Given the description of an element on the screen output the (x, y) to click on. 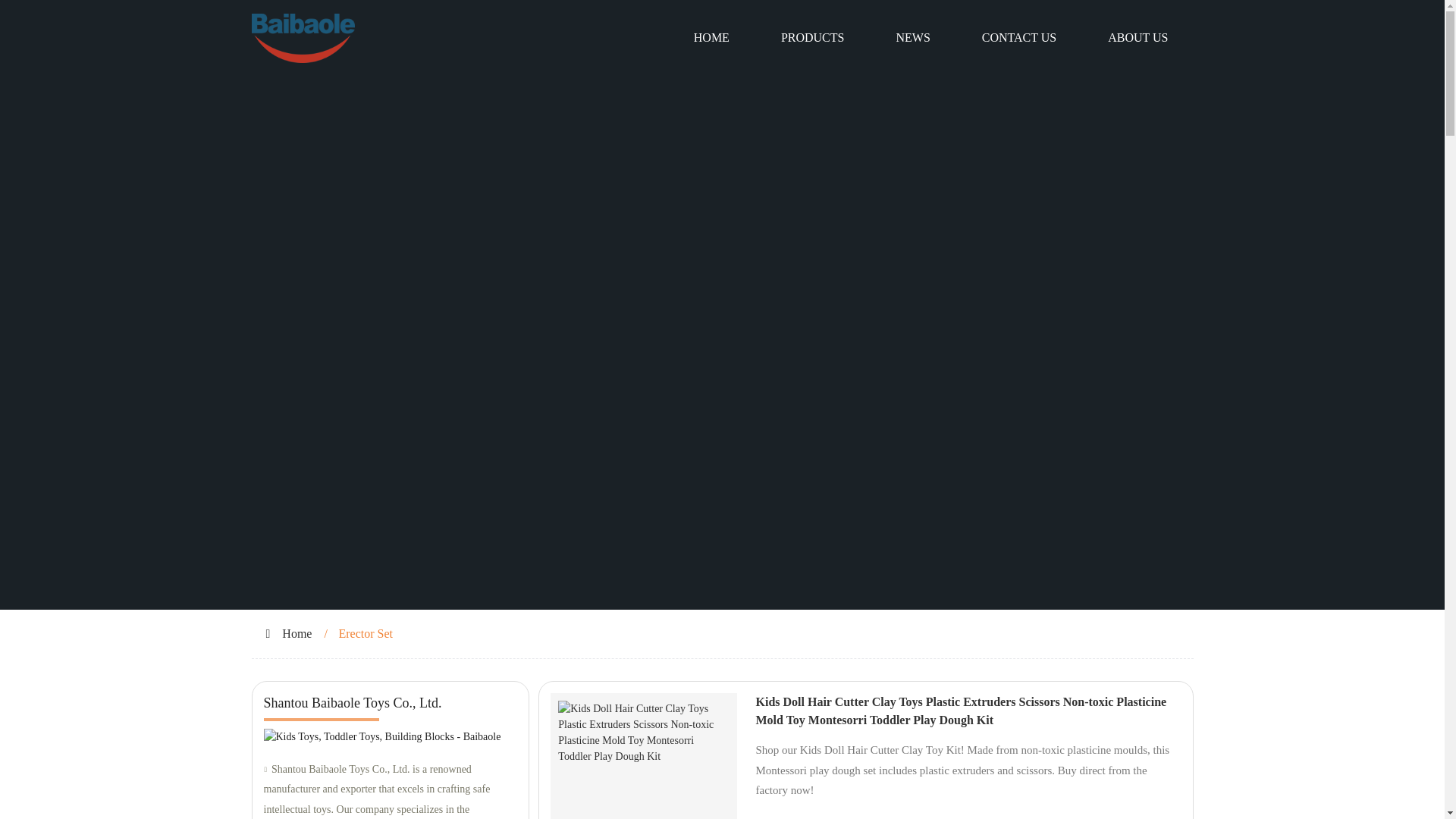
CONTACT US (1018, 38)
Home (296, 633)
PRODUCTS (812, 38)
